Given the description of an element on the screen output the (x, y) to click on. 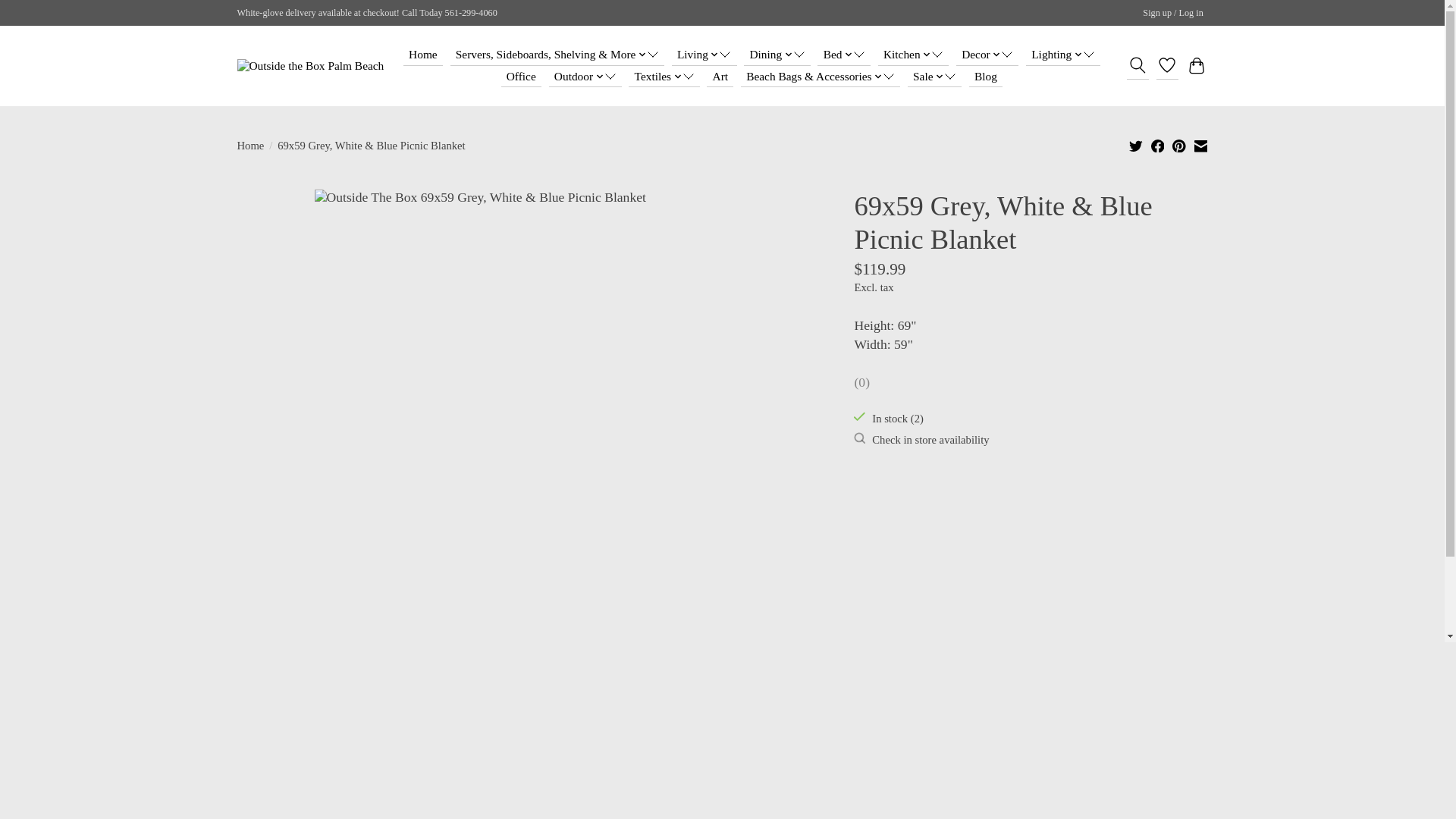
Share on Pinterest (1178, 146)
Outside the Box Palm Beach  (309, 65)
Share on Twitter (1135, 146)
Share by Email (1200, 146)
Dining (731, 55)
1 (886, 512)
Share on Facebook (1157, 146)
Home (408, 55)
Living (671, 55)
Bed (787, 55)
